Given the description of an element on the screen output the (x, y) to click on. 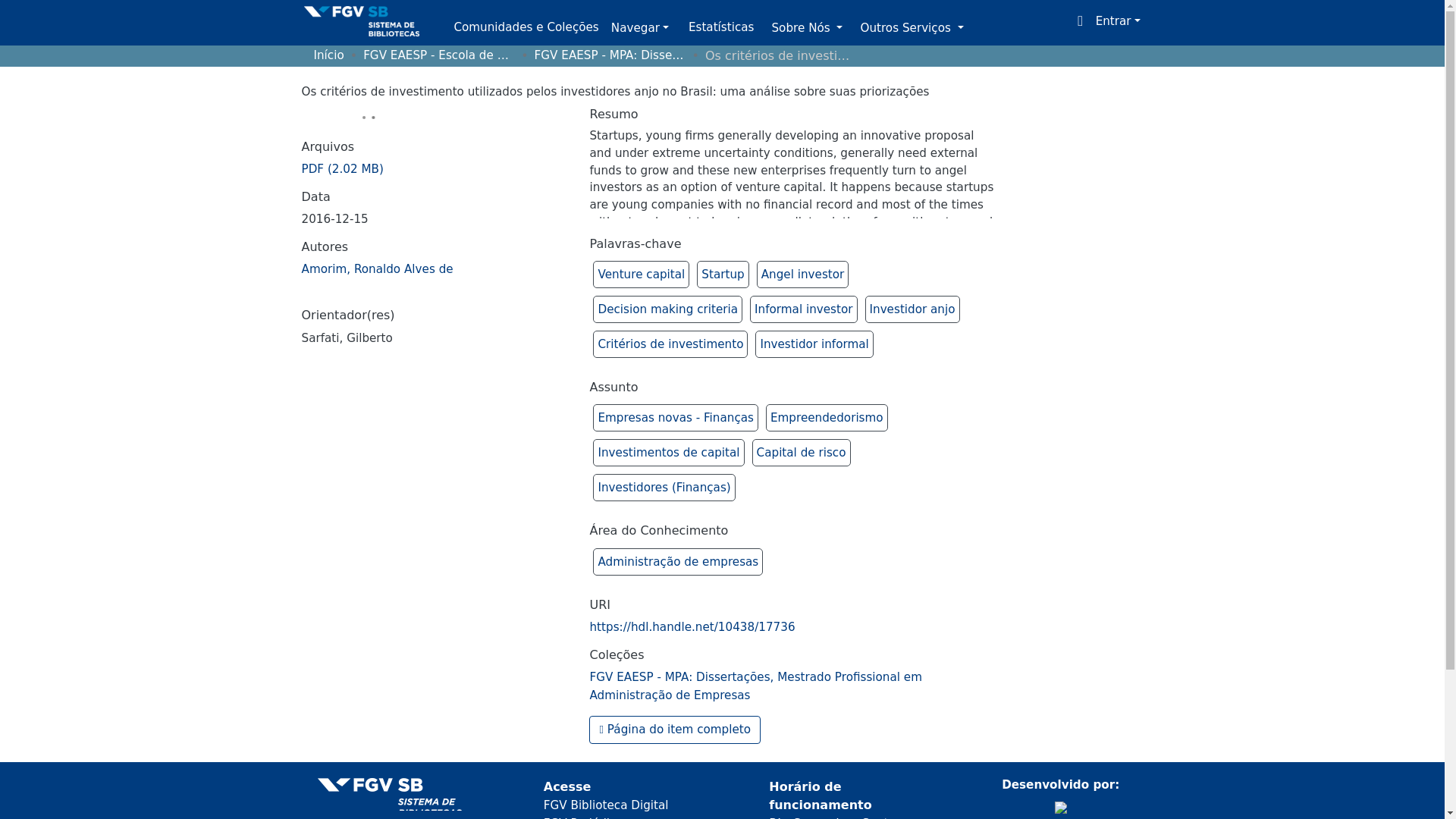
Startup (722, 274)
Investidor anjo (912, 309)
Amorim, Ronaldo Alves de (376, 269)
Selecionar um idioma (1080, 21)
Informal investor (802, 309)
Angel investor (802, 274)
Entrar (1117, 20)
Venture capital (640, 274)
Decision making criteria (667, 309)
Navegar (640, 28)
